Given the description of an element on the screen output the (x, y) to click on. 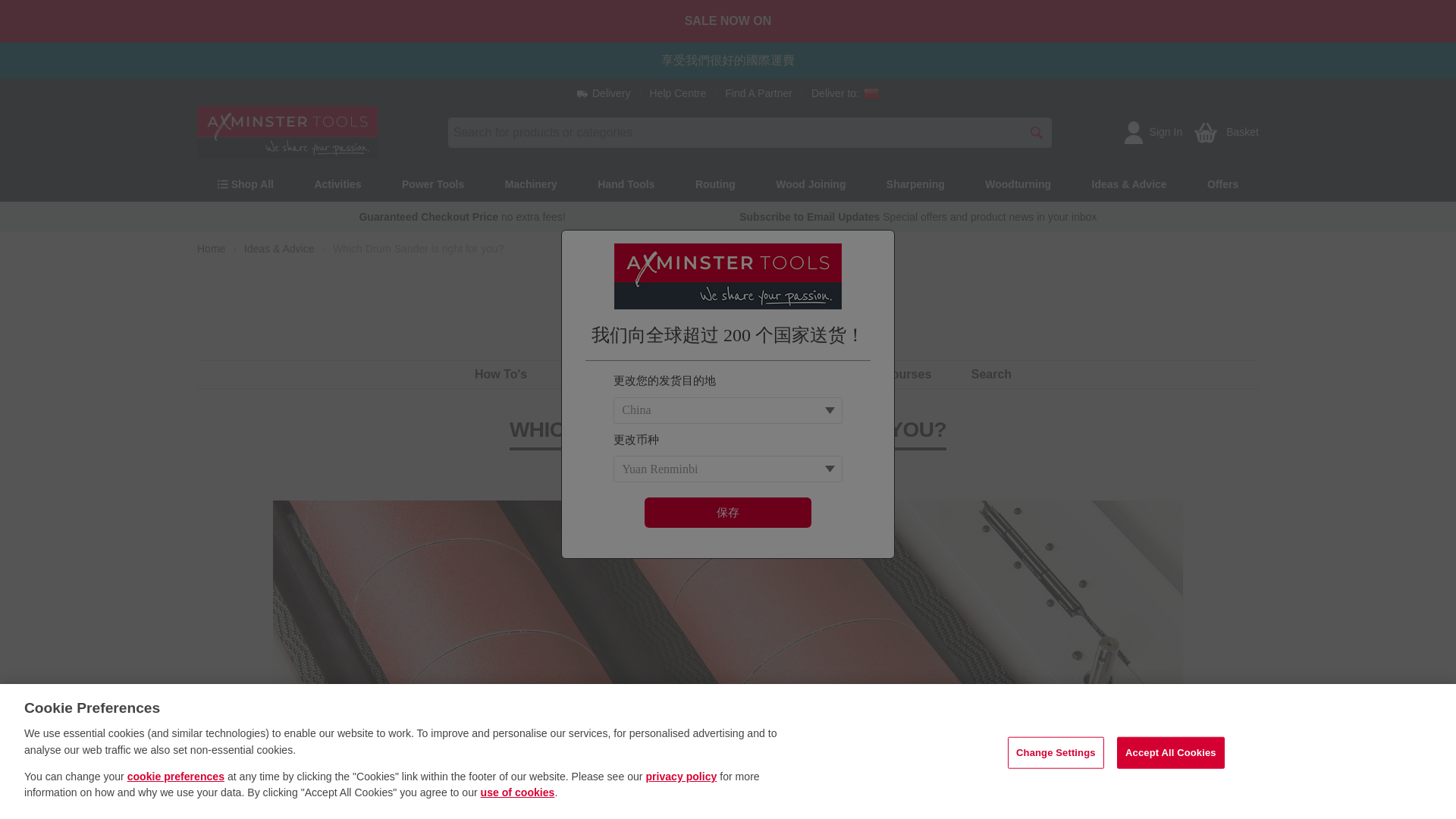
Community (729, 373)
Delivery (603, 92)
Account Menu (1133, 132)
Search (991, 373)
Courses (906, 373)
Find A Partner (758, 92)
Product Guides (612, 373)
Go to Home Page (210, 248)
Search (1036, 132)
Menu Icon (222, 184)
Search (1036, 132)
How To's (1226, 132)
SALE NOW ON (500, 373)
Clock (727, 21)
